Given the description of an element on the screen output the (x, y) to click on. 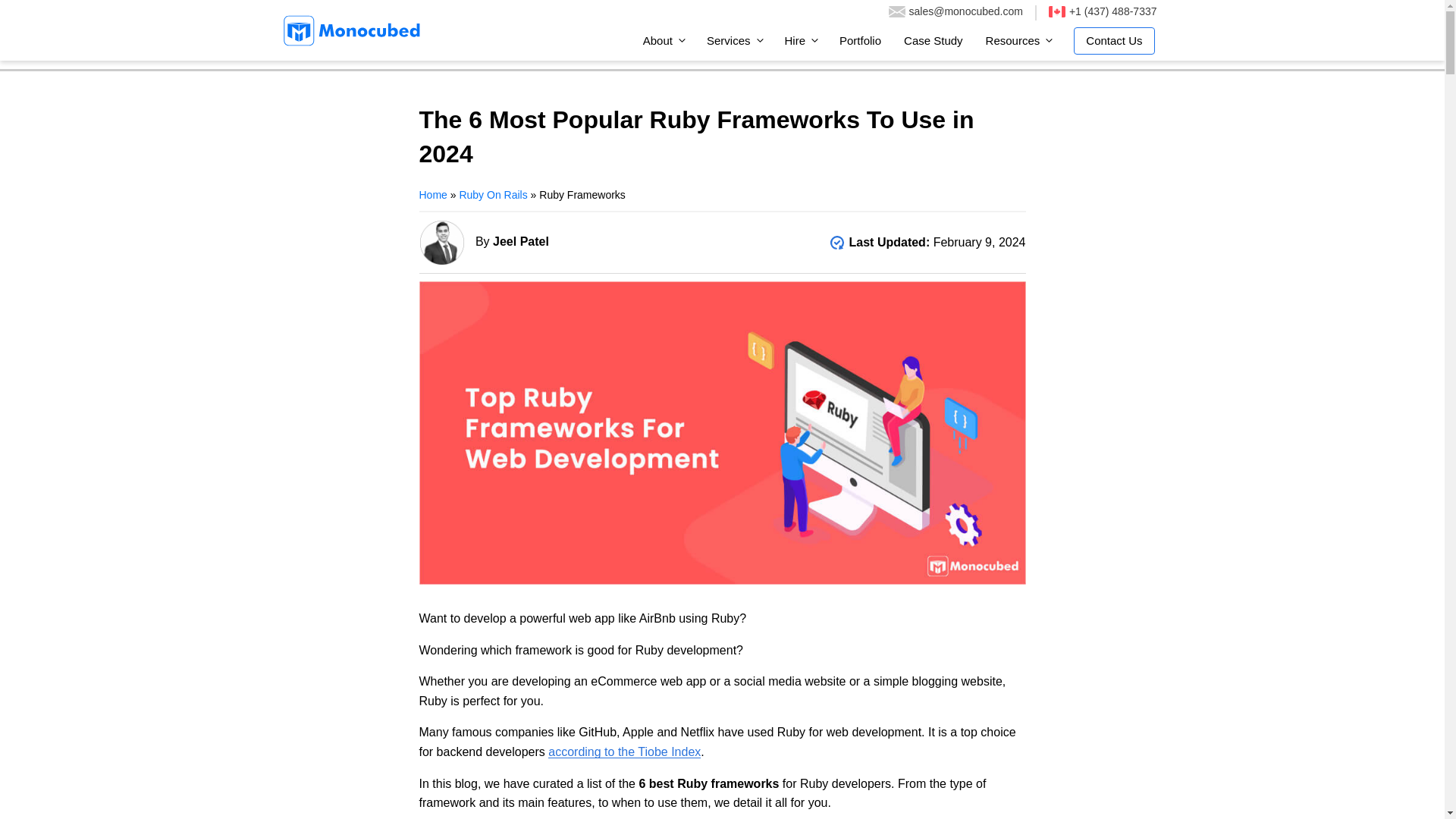
Services (734, 40)
Monocubed (351, 29)
Resources (1018, 40)
Monocubed (351, 30)
Case Study (933, 40)
Portfolio (860, 40)
About (663, 40)
Hire (800, 40)
